Given the description of an element on the screen output the (x, y) to click on. 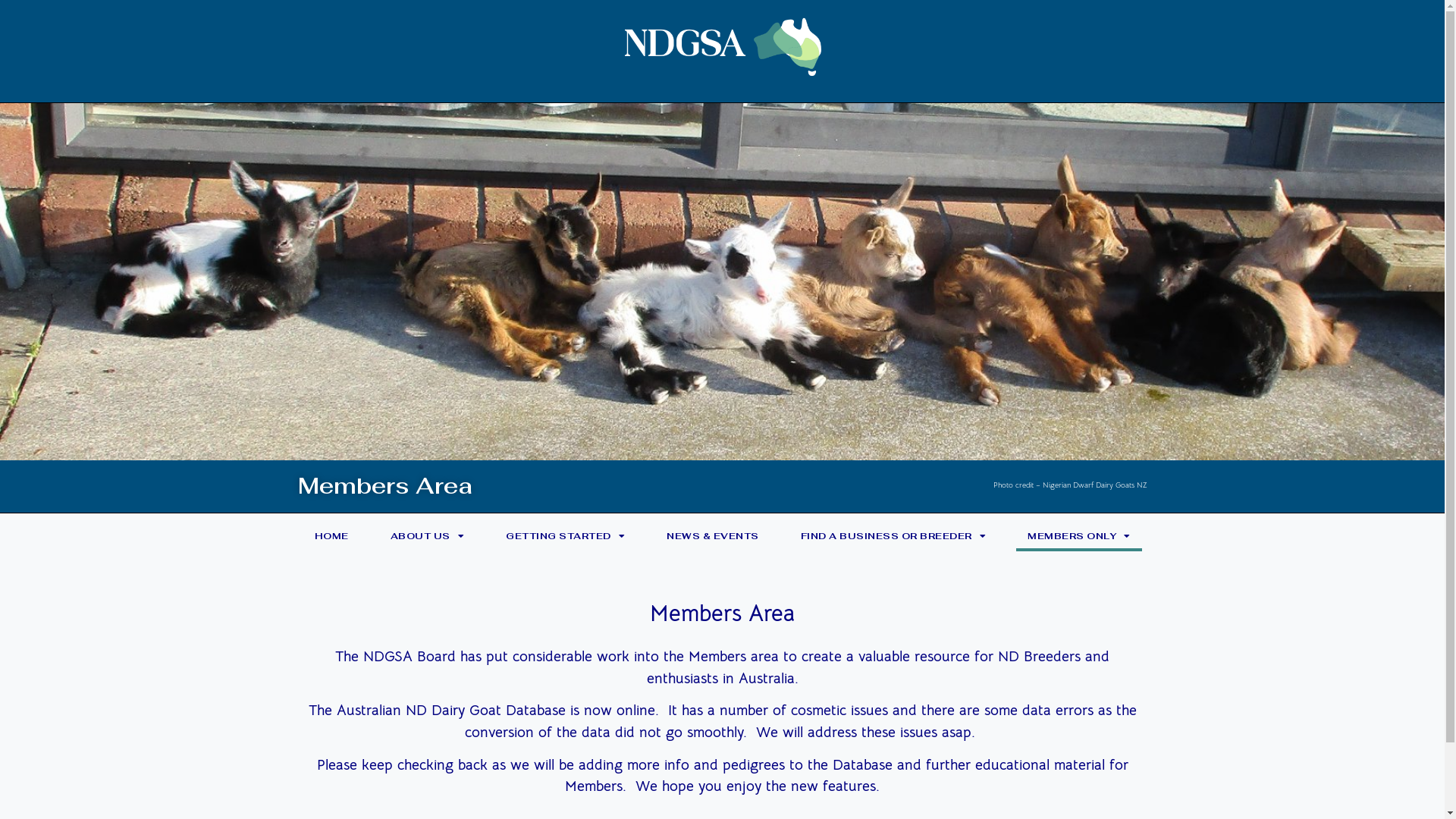
GETTING STARTED Element type: text (565, 535)
MEMBERS ONLY Element type: text (1079, 535)
ABOUT US Element type: text (427, 535)
FIND A BUSINESS OR BREEDER Element type: text (892, 535)
NEWS & EVENTS Element type: text (712, 535)
HOME Element type: text (331, 535)
